Given the description of an element on the screen output the (x, y) to click on. 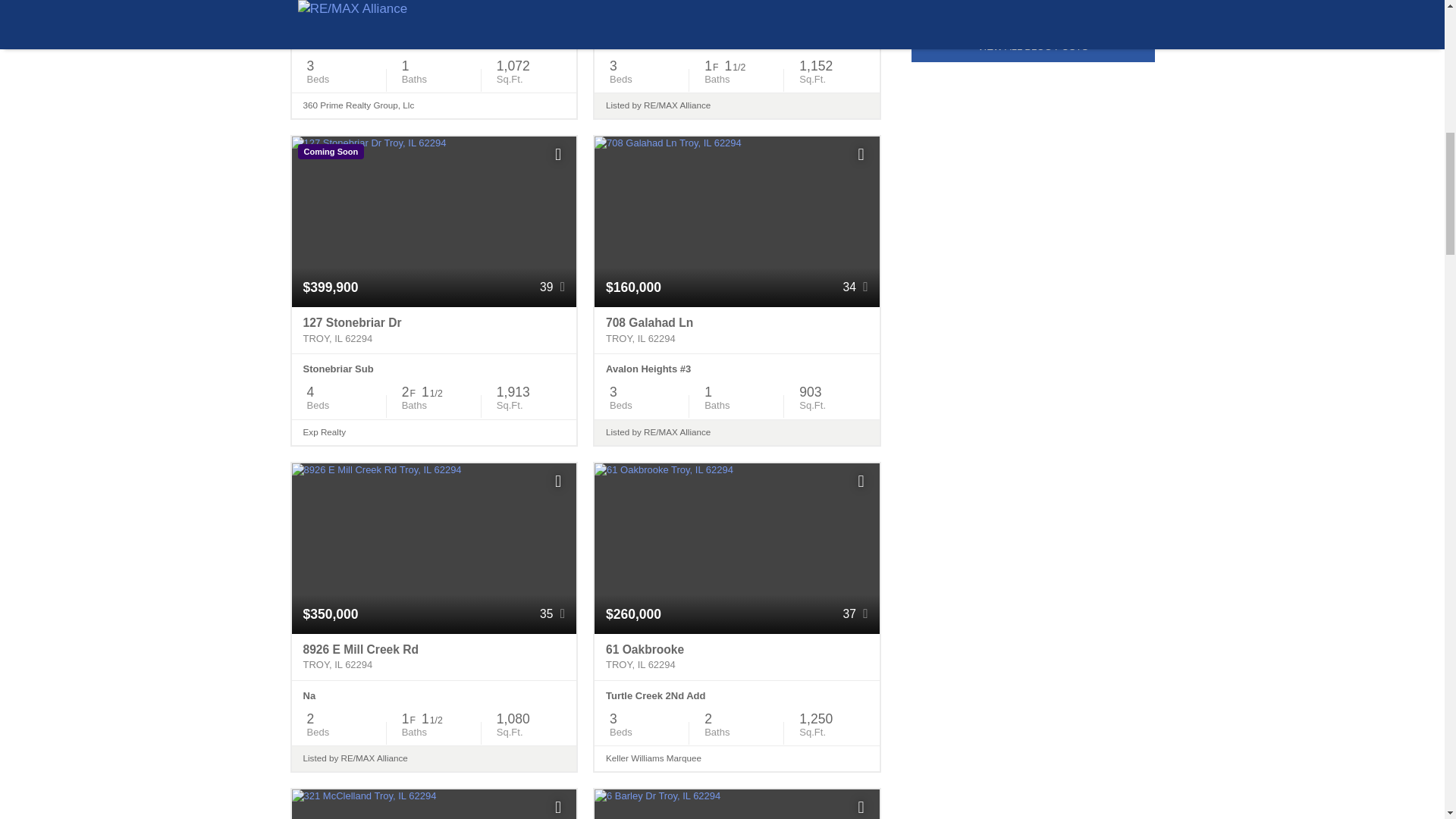
106 W 4th St St Jacob,  IL 62281 (433, 13)
61 Oakbrooke Troy,  IL 62294 (736, 656)
8926 E Mill Creek Rd Troy,  IL 62294 (433, 656)
708 Galahad Ln Troy,  IL 62294 (736, 330)
104 Henderson St Troy,  IL 62294 (736, 13)
127 Stonebriar Dr Troy,  IL 62294 (433, 330)
